Given the description of an element on the screen output the (x, y) to click on. 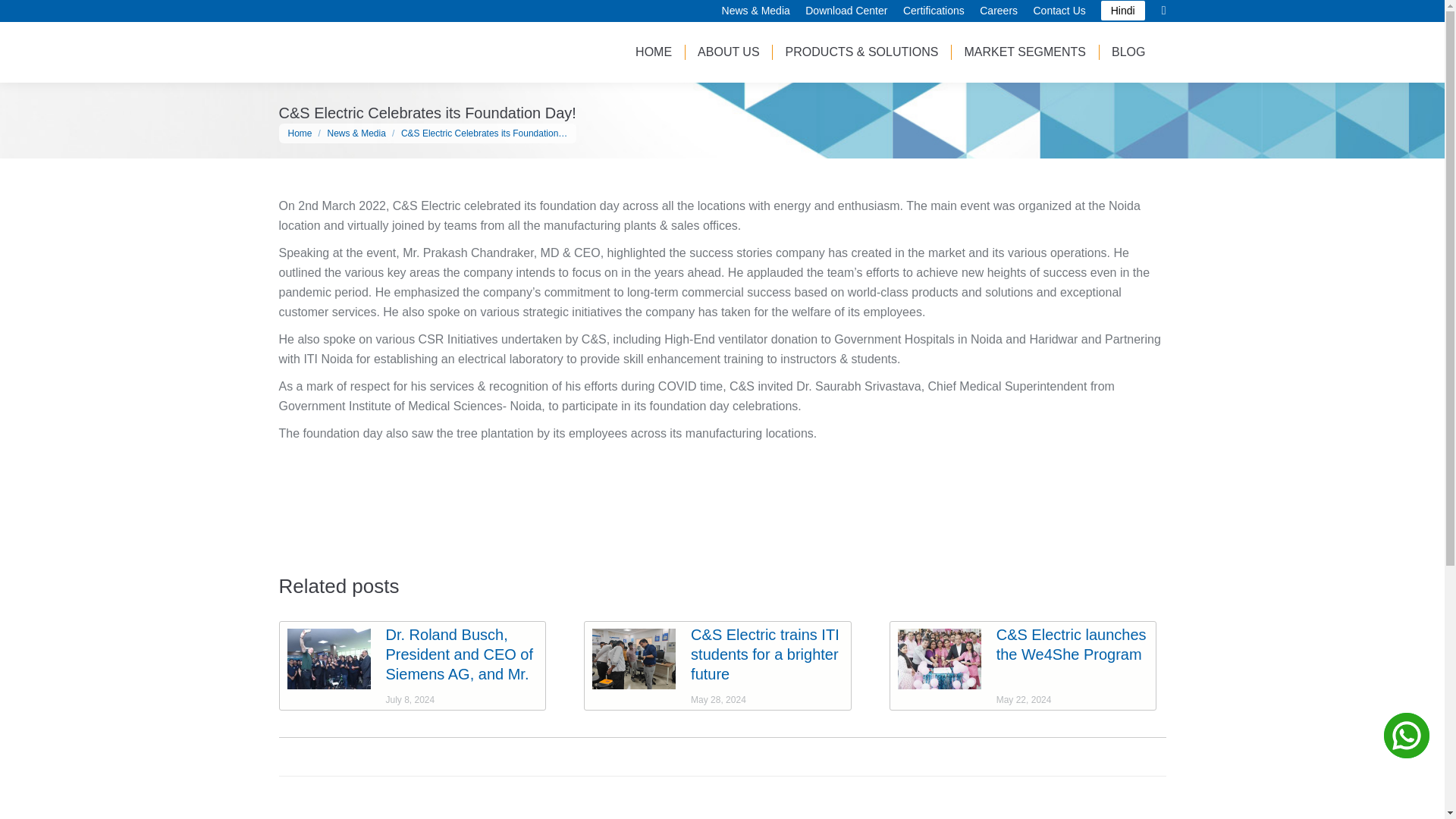
Go! (24, 16)
Hindi (1122, 10)
MARKET SEGMENTS (1024, 52)
ABOUT US (728, 52)
HOME (653, 52)
Careers (998, 10)
Download Center (845, 10)
Certifications (932, 10)
Contact Us (1058, 10)
BLOG (1128, 52)
Home (300, 132)
